Given the description of an element on the screen output the (x, y) to click on. 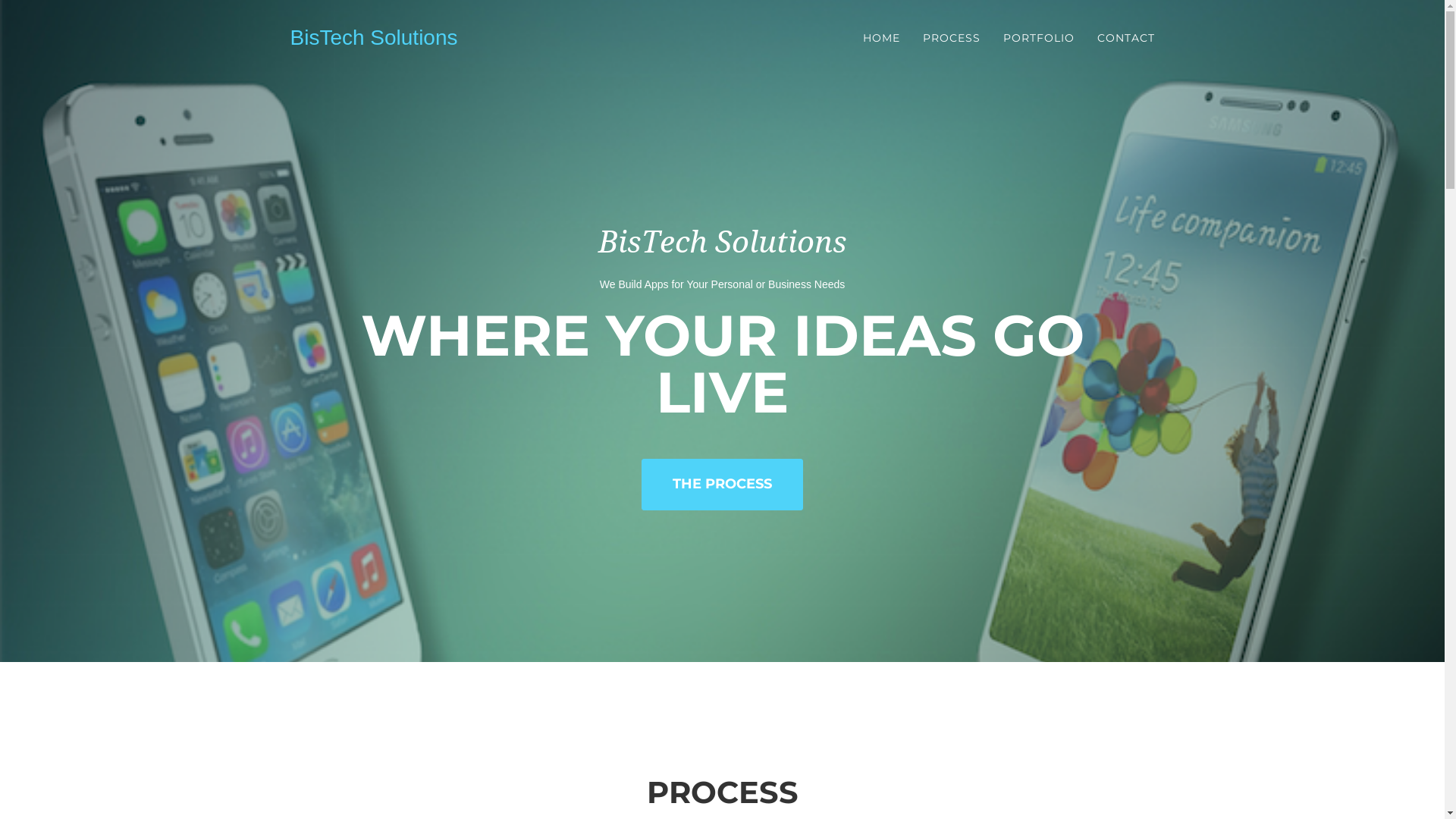
THE PROCESS Element type: text (722, 484)
CONTACT Element type: text (1125, 37)
PORTFOLIO Element type: text (1038, 37)
BisTech Solutions Element type: text (374, 37)
PROCESS Element type: text (951, 37)
HOME Element type: text (880, 37)
